Given the description of an element on the screen output the (x, y) to click on. 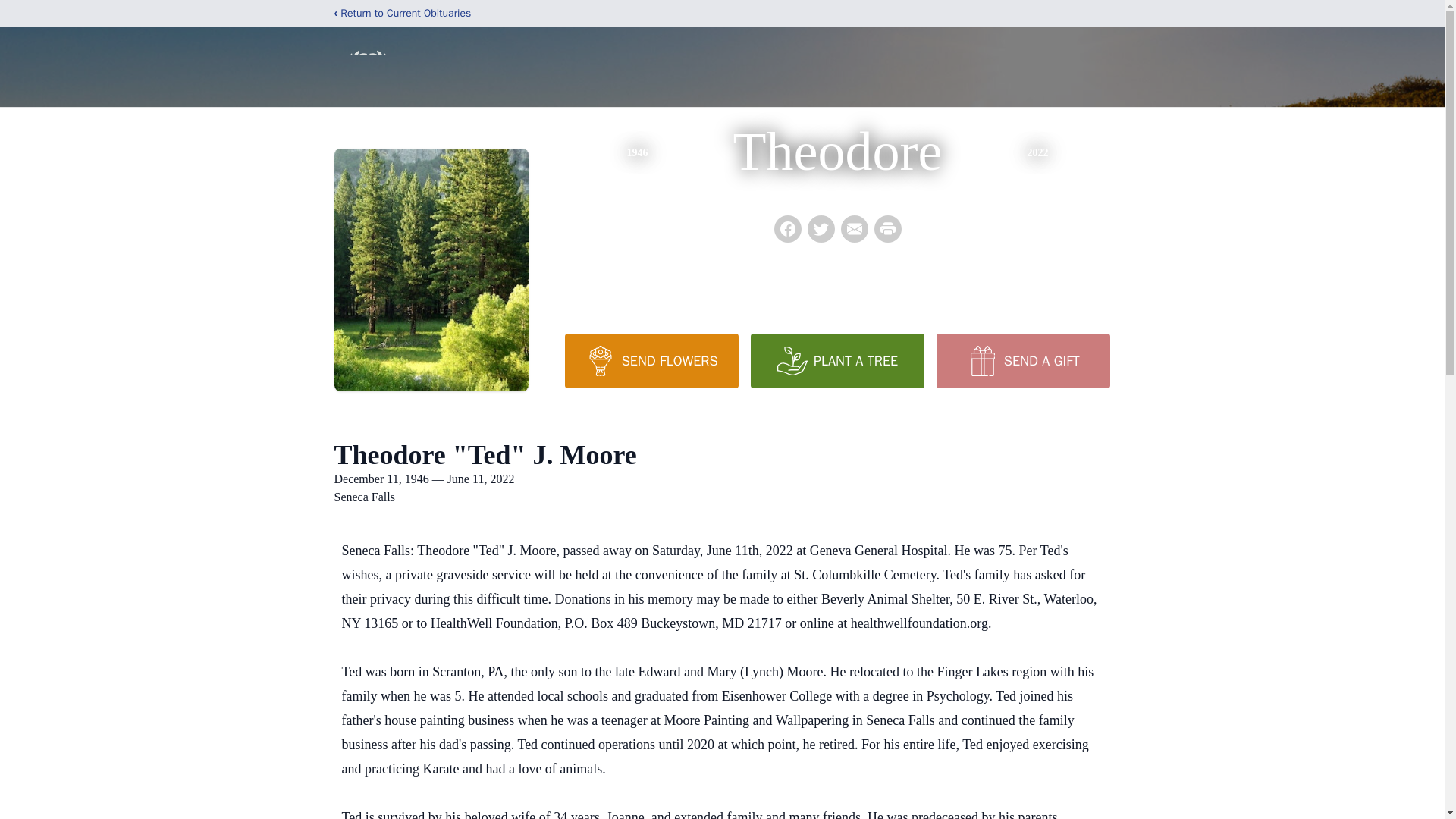
SEND A GIFT (1022, 360)
PLANT A TREE (837, 360)
SEND FLOWERS (651, 360)
